Given the description of an element on the screen output the (x, y) to click on. 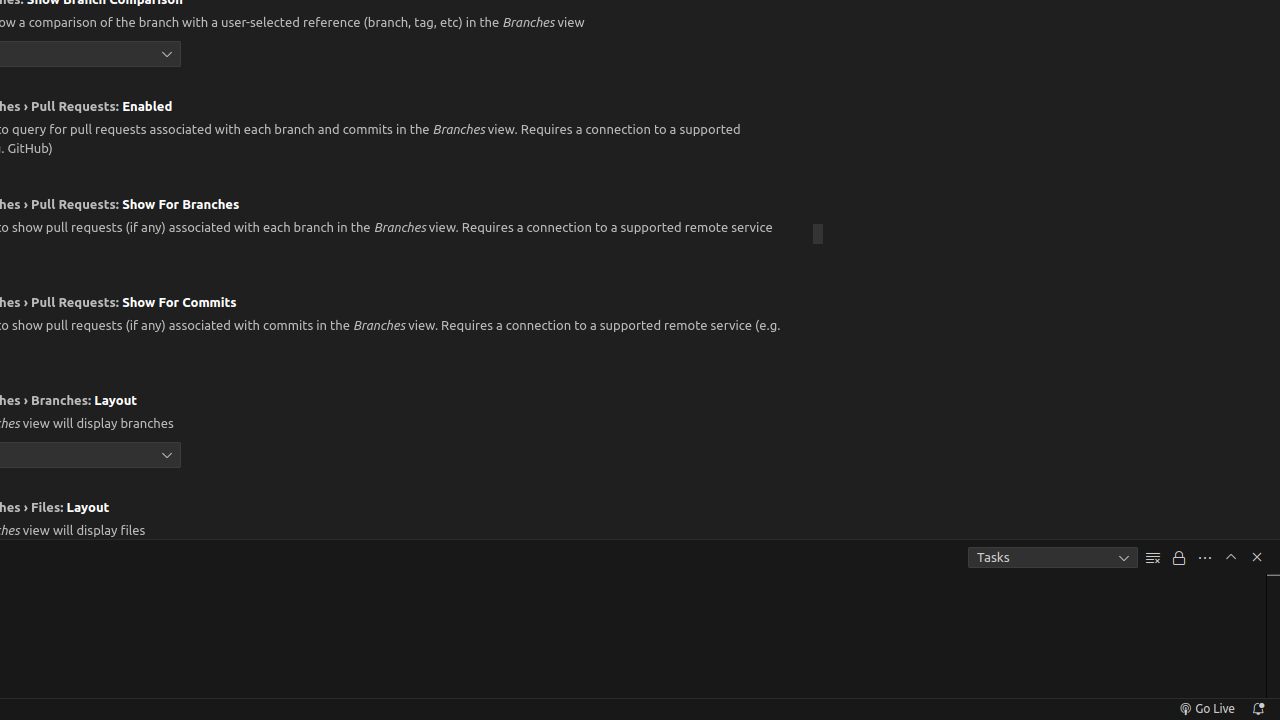
Tasks Element type: menu-item (1053, 557)
Hide Panel Element type: push-button (1257, 557)
Views and More Actions... Element type: push-button (1205, 557)
Clear Output Element type: push-button (1153, 557)
Turn Auto Scrolling Off Element type: check-box (1179, 557)
